Given the description of an element on the screen output the (x, y) to click on. 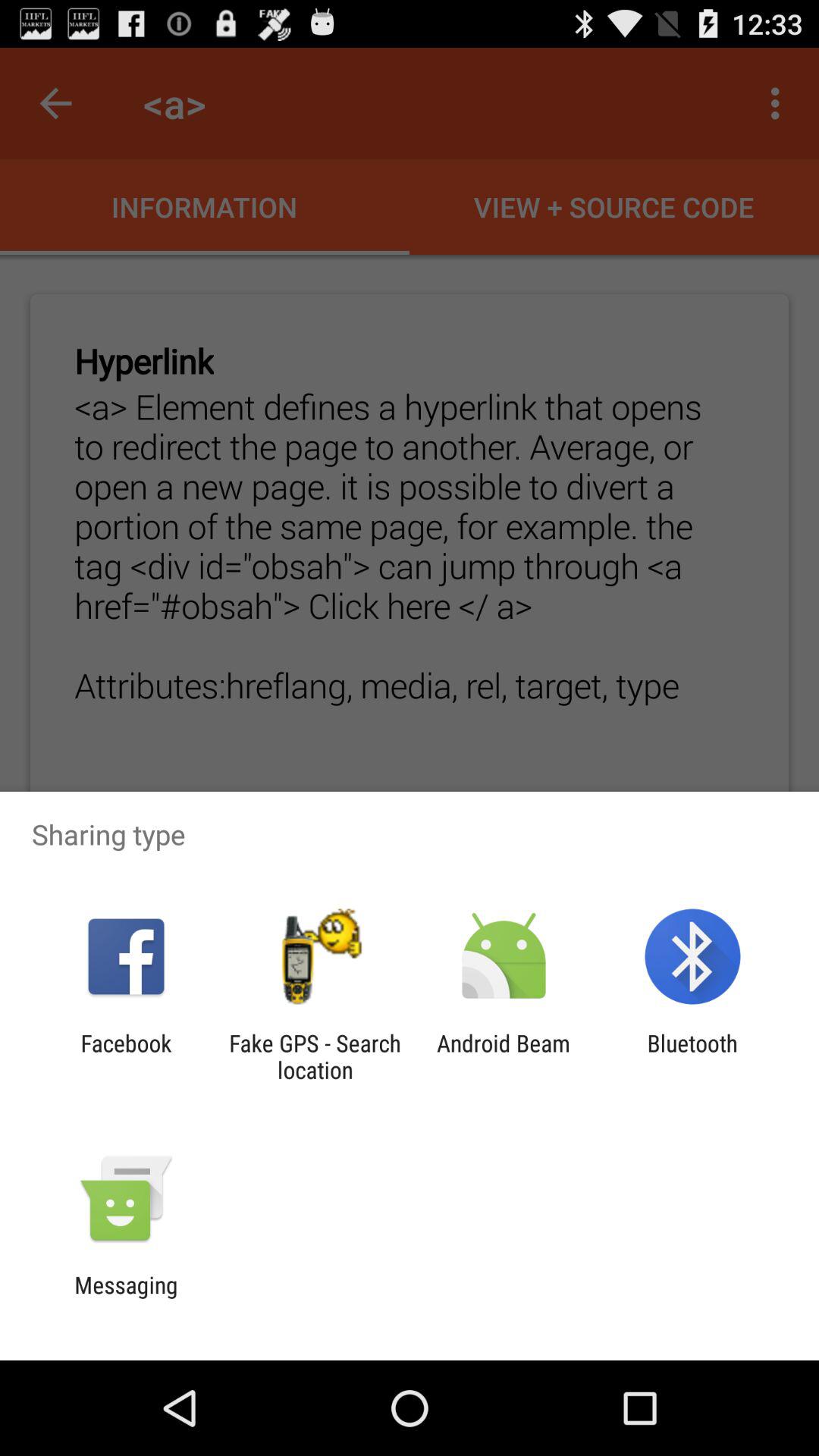
launch app next to the fake gps search (503, 1056)
